Given the description of an element on the screen output the (x, y) to click on. 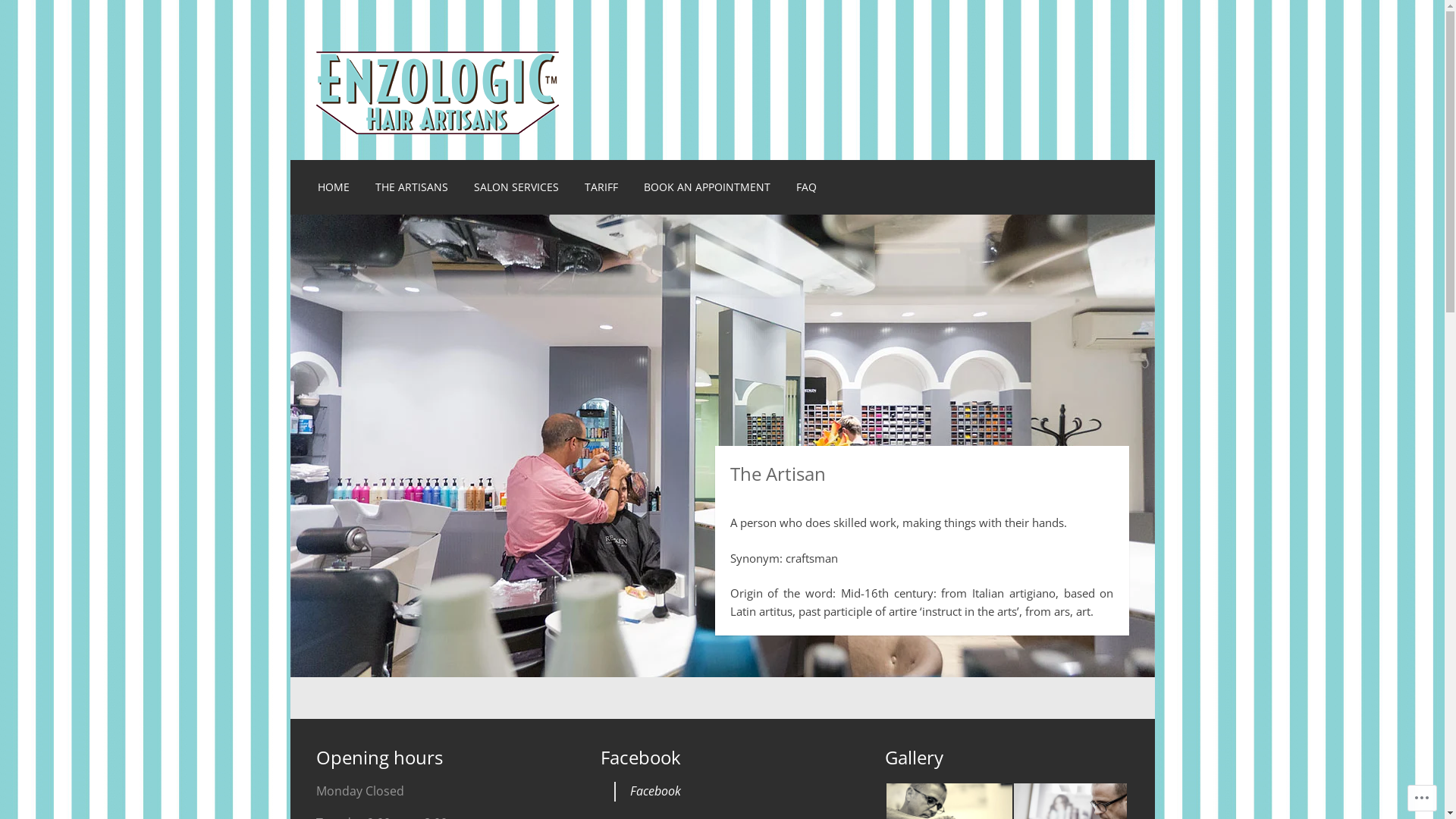
BOOK AN APPOINTMENT Element type: text (706, 186)
HOME Element type: text (333, 186)
THE ARTISANS Element type: text (411, 186)
Facebook Element type: text (655, 790)
SALON SERVICES Element type: text (515, 186)
FAQ Element type: text (806, 186)
TARIFF Element type: text (601, 186)
Facebook Element type: text (640, 756)
